Given the description of an element on the screen output the (x, y) to click on. 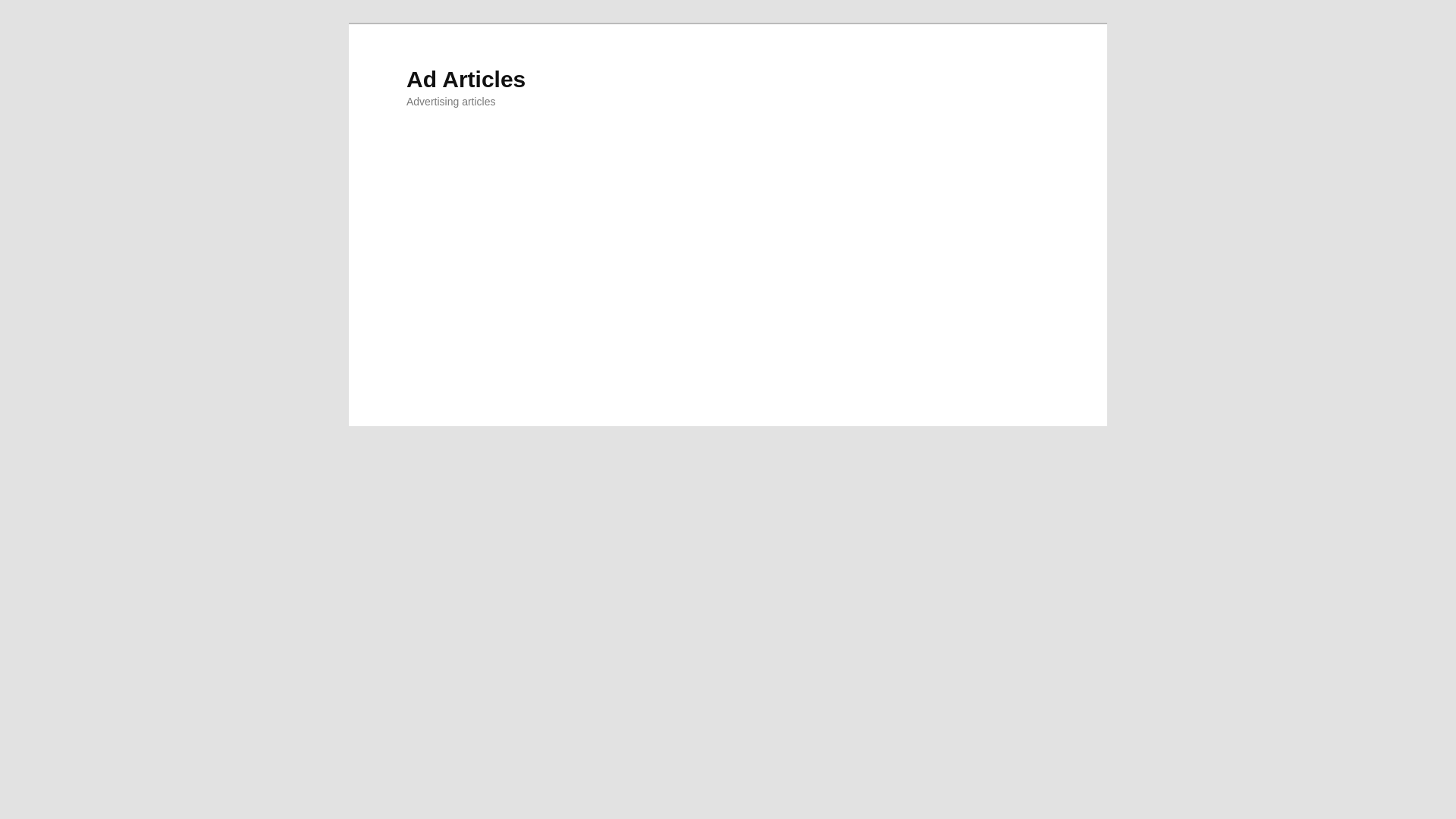
Ad Articles (465, 78)
